Given the description of an element on the screen output the (x, y) to click on. 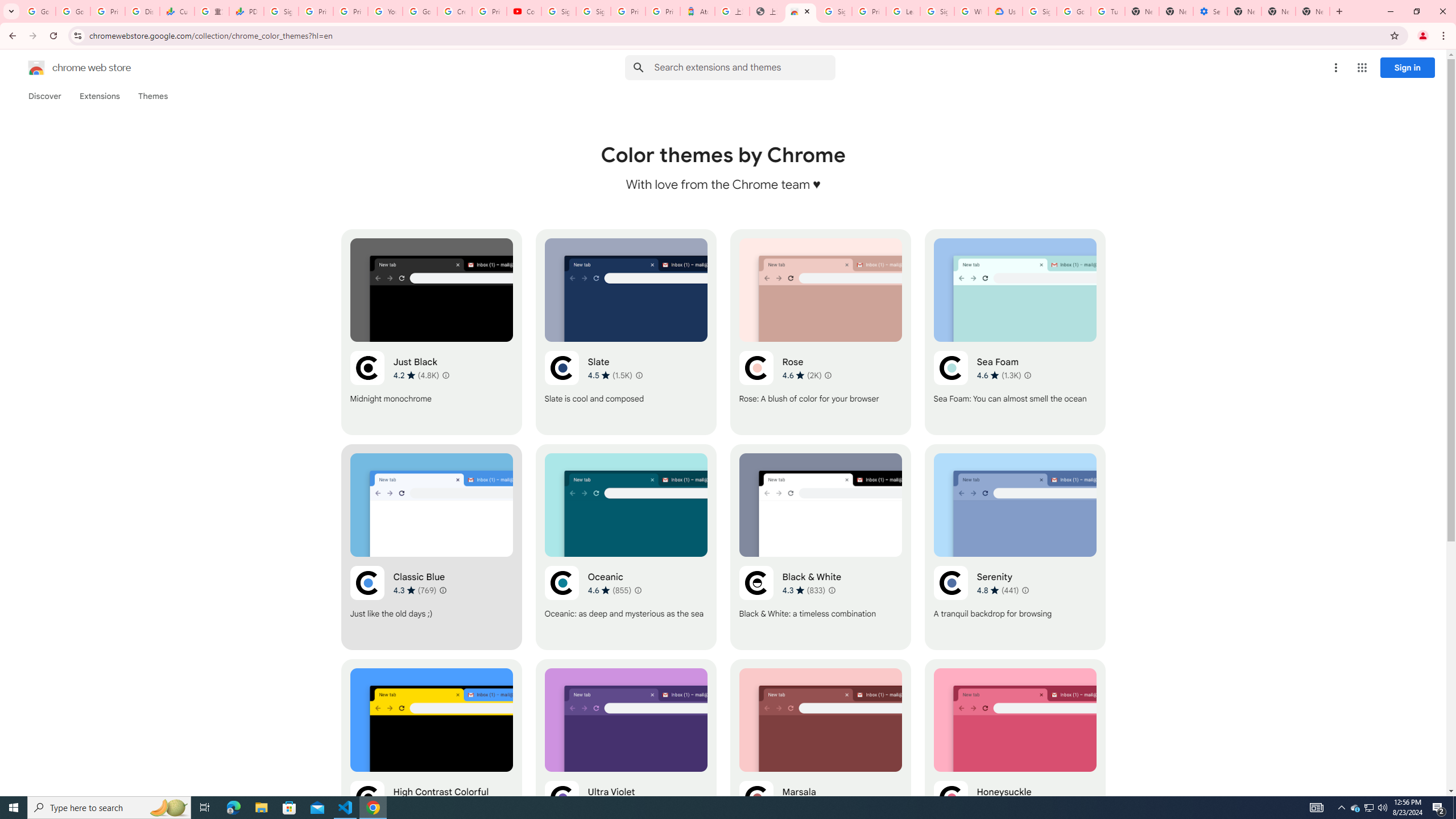
Sign in - Google Accounts (592, 11)
Search input (744, 67)
Turn cookies on or off - Computer - Google Account Help (1107, 11)
Create your Google Account (454, 11)
Atour Hotel - Google hotels (697, 11)
Content Creator Programs & Opportunities - YouTube Creators (524, 11)
Average rating 4.6 out of 5 stars. 855 ratings. (609, 590)
Learn more about results and reviews "Just Black" (445, 375)
Learn more about results and reviews "Classic Blue" (442, 590)
New Tab (1243, 11)
Black & White (820, 546)
Average rating 4.6 out of 5 stars. 1.3K ratings. (999, 375)
